Given the description of an element on the screen output the (x, y) to click on. 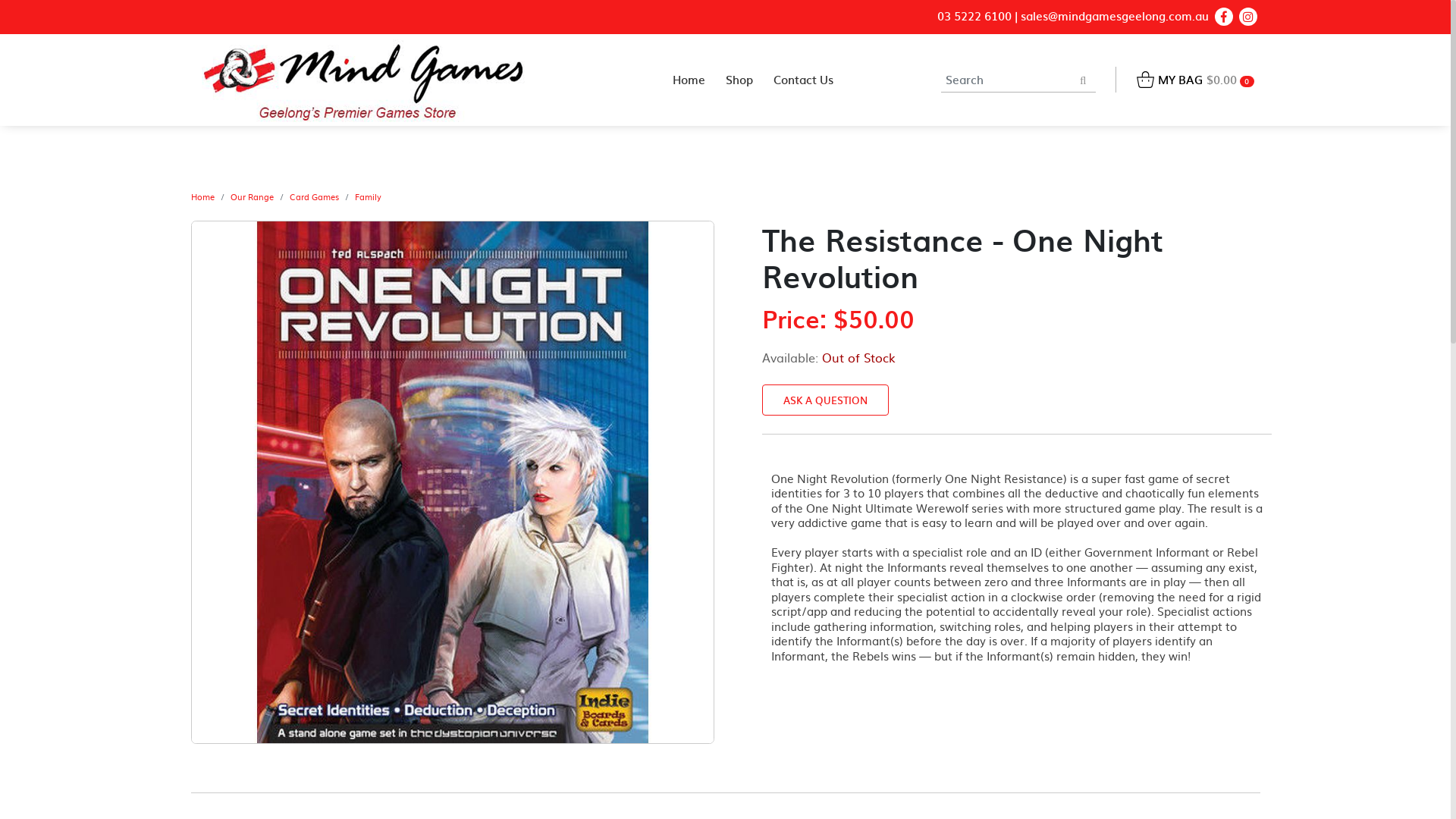
sales@mindgamesgeelong.com.au Element type: text (1114, 16)
ASK A QUESTION Element type: text (824, 399)
Card Games Element type: text (313, 197)
The Resistance  One Night Revolution Element type: hover (452, 481)
Home Element type: text (688, 79)
Home Element type: text (202, 197)
03 5222 6100 Element type: text (974, 16)
Follow us on Facebook Element type: hover (1223, 16)
Our Range Element type: text (251, 197)
View our Instagram Element type: hover (1248, 16)
Family Element type: text (367, 197)
Contact Us Element type: text (803, 79)
Mind Games Geelong Element type: hover (363, 79)
MY BAG
$0.00 0 Element type: text (1194, 79)
Shop Element type: text (739, 79)
